Given the description of an element on the screen output the (x, y) to click on. 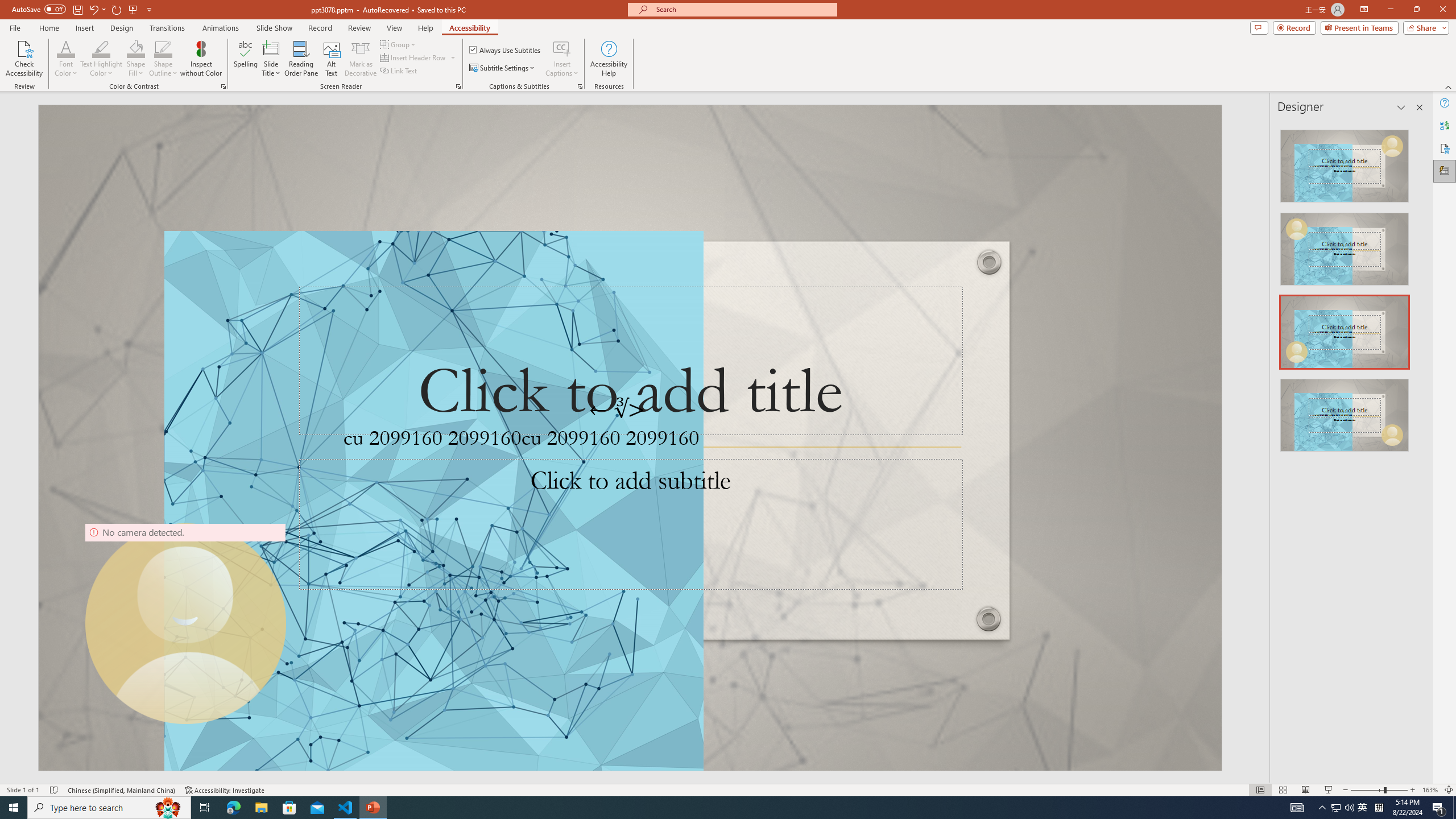
Mark as Decorative (360, 58)
Captions & Subtitles (580, 85)
Subtitle Settings (502, 67)
